Given the description of an element on the screen output the (x, y) to click on. 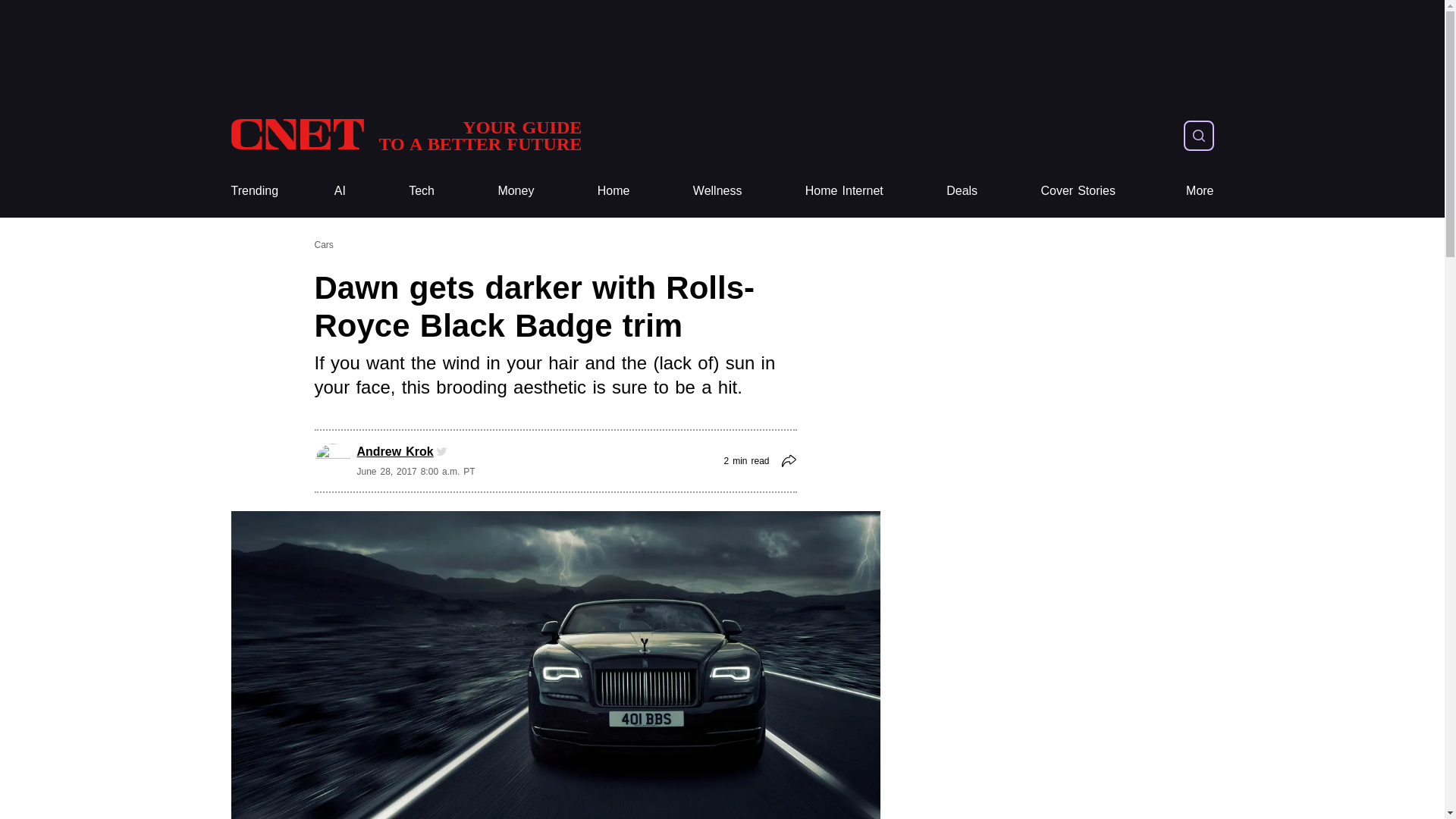
Wellness (717, 190)
Money (515, 190)
Home Internet (844, 190)
More (1199, 190)
Home (613, 190)
Tech (421, 190)
CNET (405, 135)
Cover Stories (1078, 190)
Trending (254, 190)
AI (340, 190)
Money (515, 190)
Home Internet (844, 190)
Deals (961, 190)
Home (613, 190)
